Given the description of an element on the screen output the (x, y) to click on. 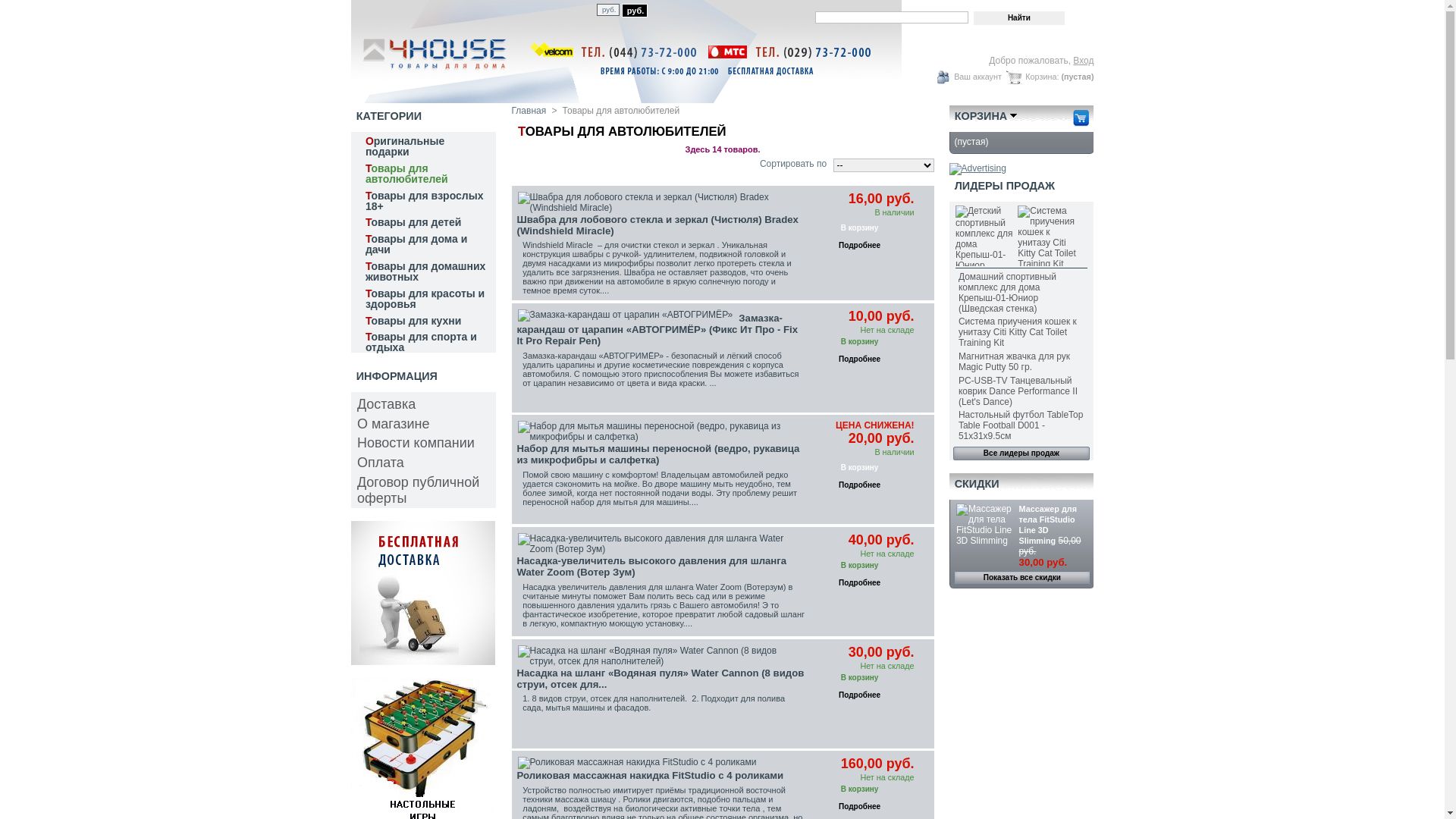
Advertising Element type: hover (422, 661)
Advertising Element type: hover (977, 168)
